Given the description of an element on the screen output the (x, y) to click on. 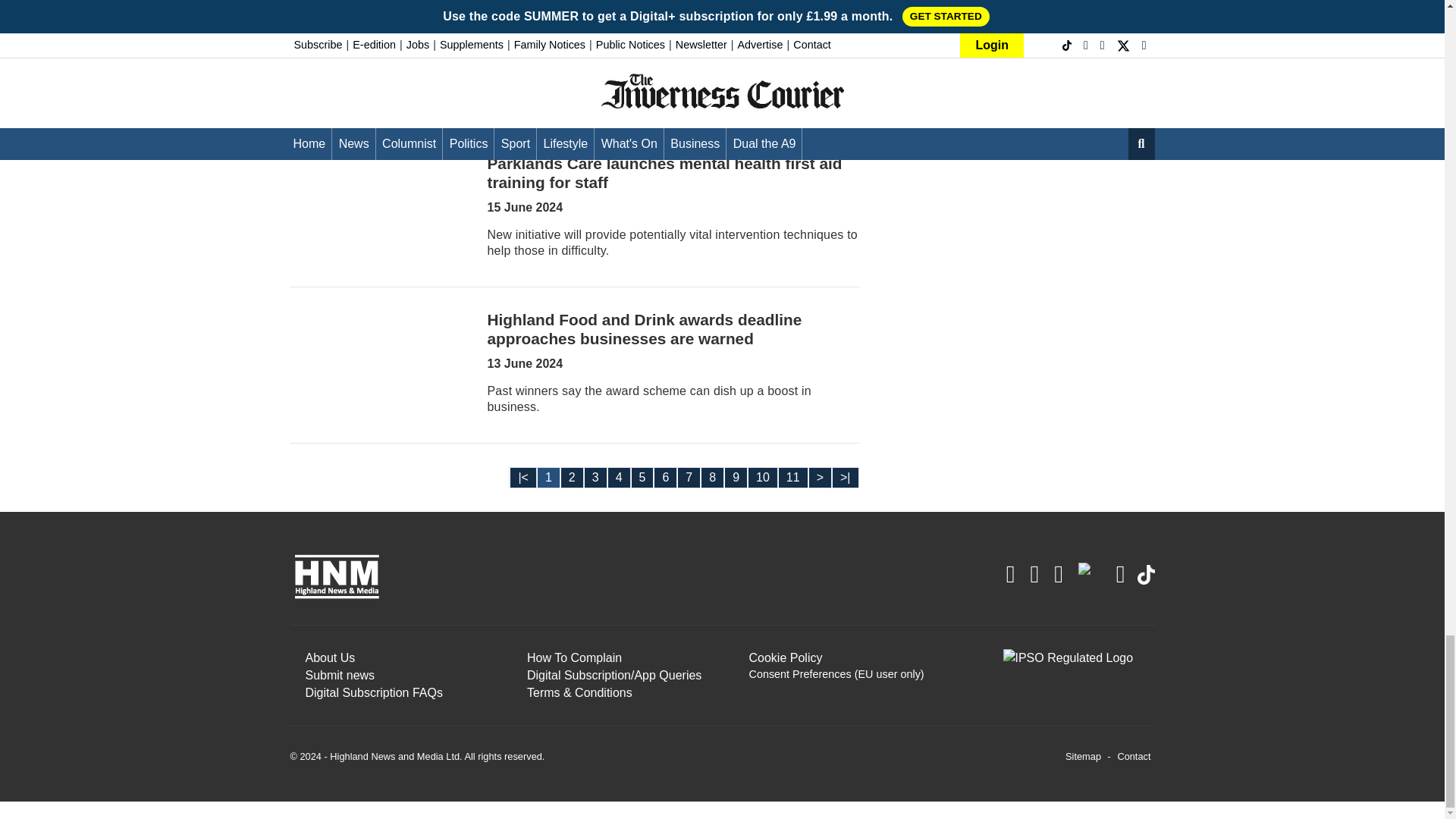
RSS (1058, 573)
Facebook (1034, 573)
Instagram (1010, 573)
